Given the description of an element on the screen output the (x, y) to click on. 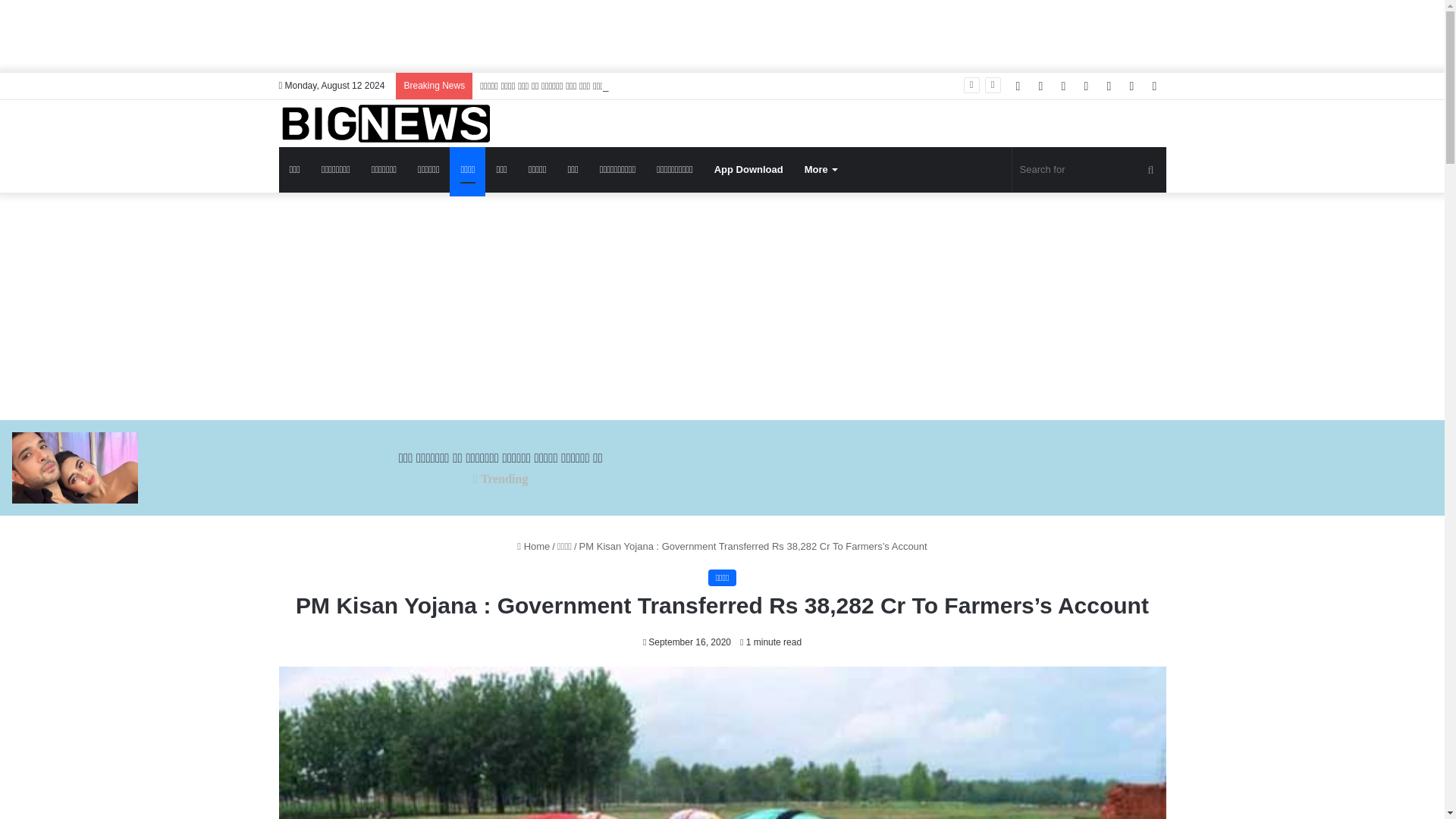
Home (533, 546)
bignews (384, 123)
More (820, 169)
App Download (748, 169)
Search for (1088, 169)
